Given the description of an element on the screen output the (x, y) to click on. 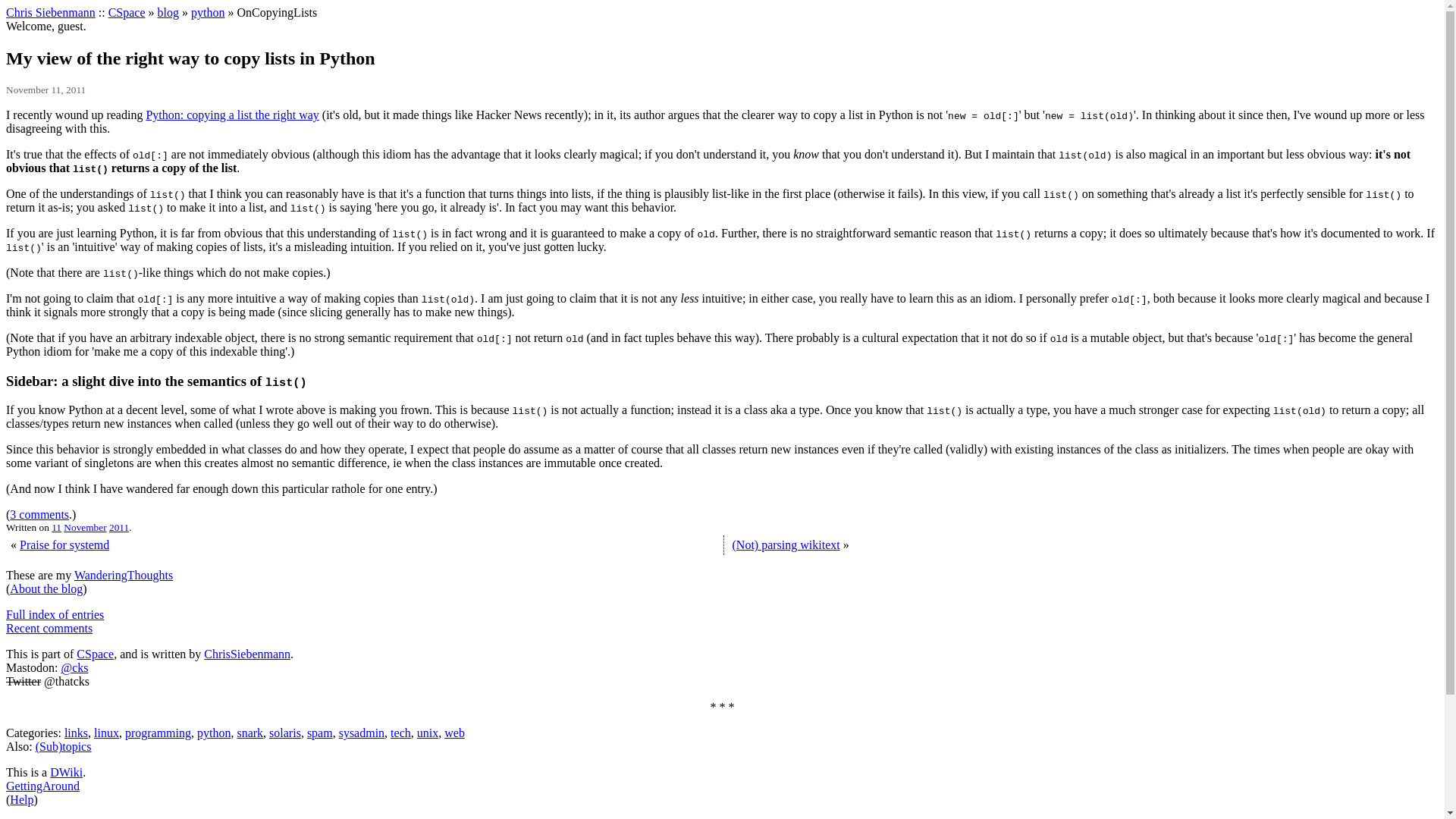
GettingAround (42, 785)
2011 (119, 527)
spam (320, 732)
programming (157, 732)
Chris Siebenmann (50, 11)
web (454, 732)
November (85, 527)
python (207, 11)
Recent comments (49, 627)
snark (249, 732)
